Given the description of an element on the screen output the (x, y) to click on. 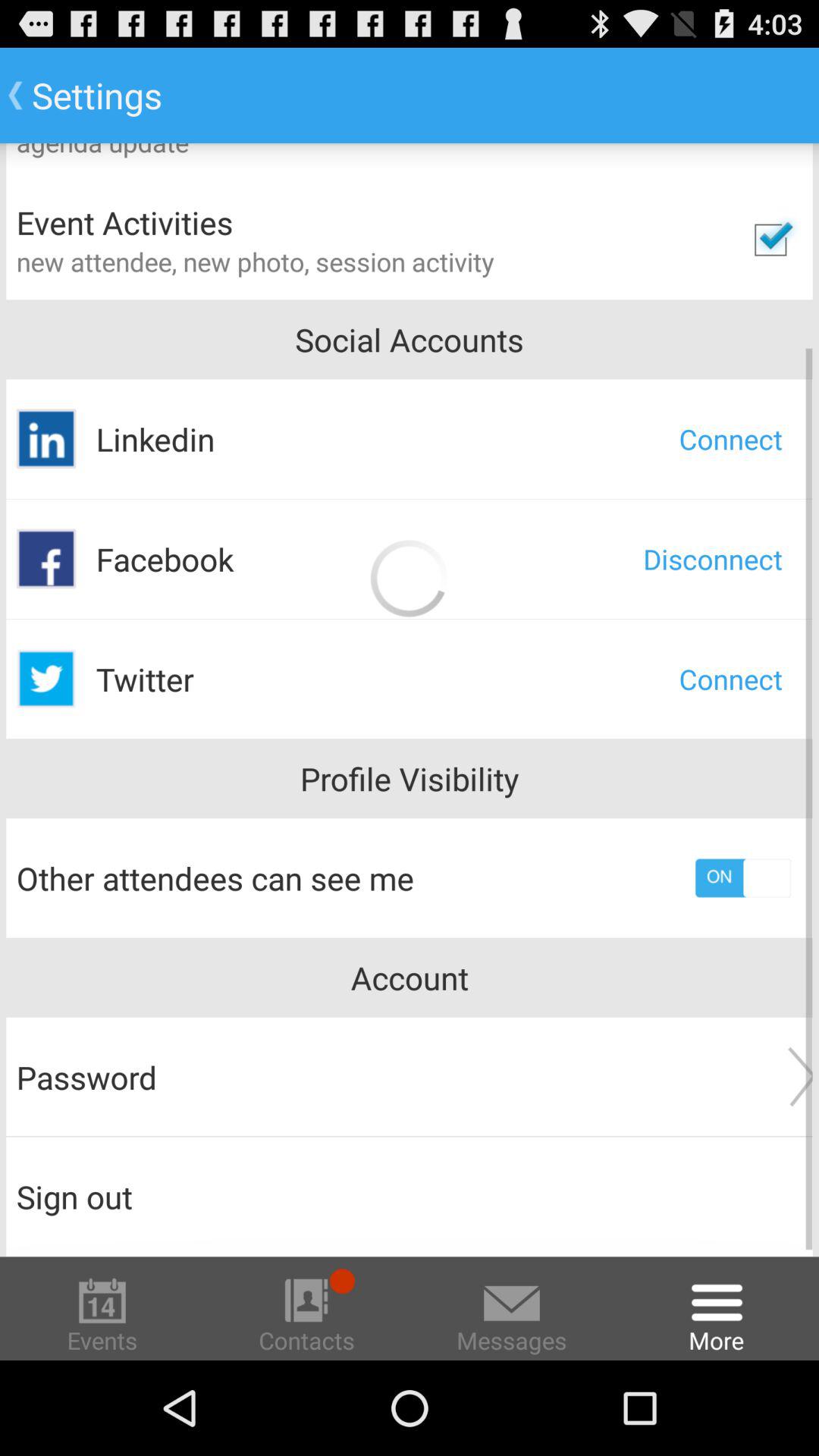
open app next to the other attendees can app (742, 877)
